Given the description of an element on the screen output the (x, y) to click on. 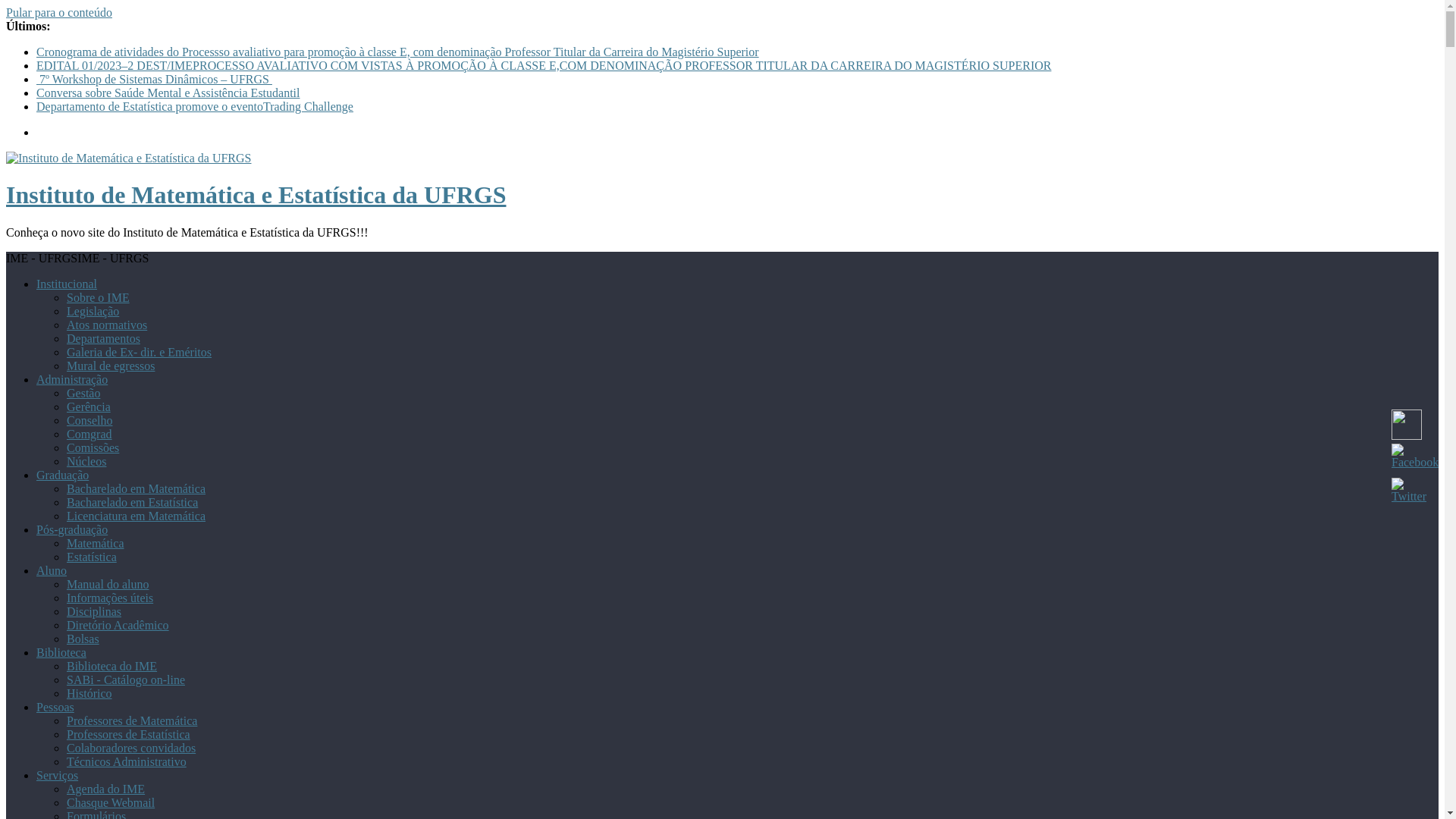
Facebook Element type: hover (1414, 456)
Departamentos Element type: text (103, 338)
Disciplinas Element type: text (93, 611)
Institucional Element type: text (66, 283)
Aluno Element type: text (51, 570)
Bolsas Element type: text (82, 638)
Mural de egressos Element type: text (110, 365)
Sobre o IME Element type: text (97, 297)
Atos normativos Element type: text (106, 324)
Manual do aluno Element type: text (107, 583)
Pessoas Element type: text (55, 706)
Comgrad Element type: text (89, 433)
Agenda do IME Element type: text (105, 788)
Biblioteca do IME Element type: text (111, 665)
Conselho Element type: text (89, 420)
Colaboradores convidados Element type: text (130, 747)
Chasque Webmail Element type: text (110, 802)
Biblioteca Element type: text (61, 652)
Twitter Element type: hover (1408, 490)
